Given the description of an element on the screen output the (x, y) to click on. 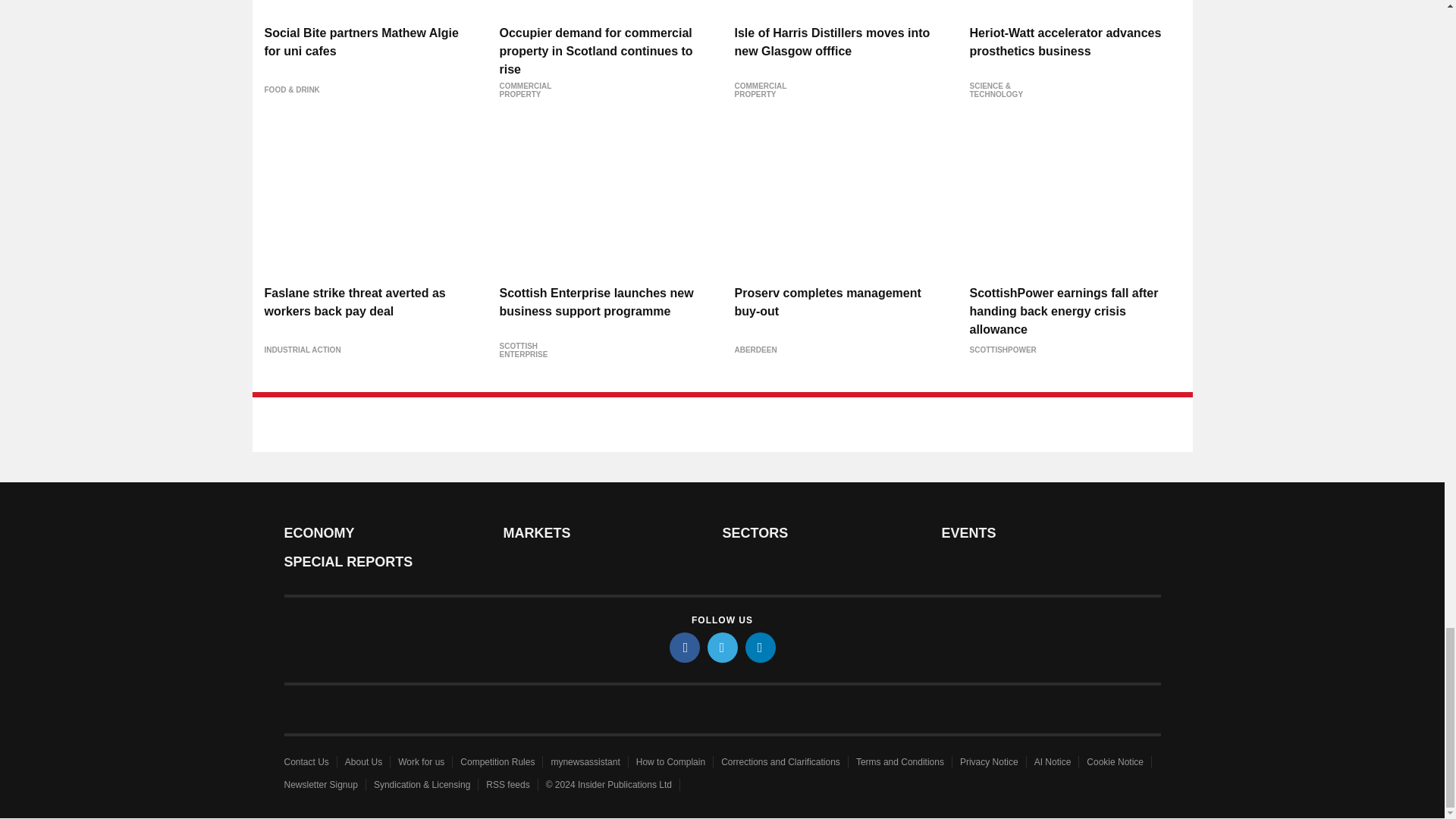
linkedin (759, 647)
facebook (683, 647)
twitter (721, 647)
